Given the description of an element on the screen output the (x, y) to click on. 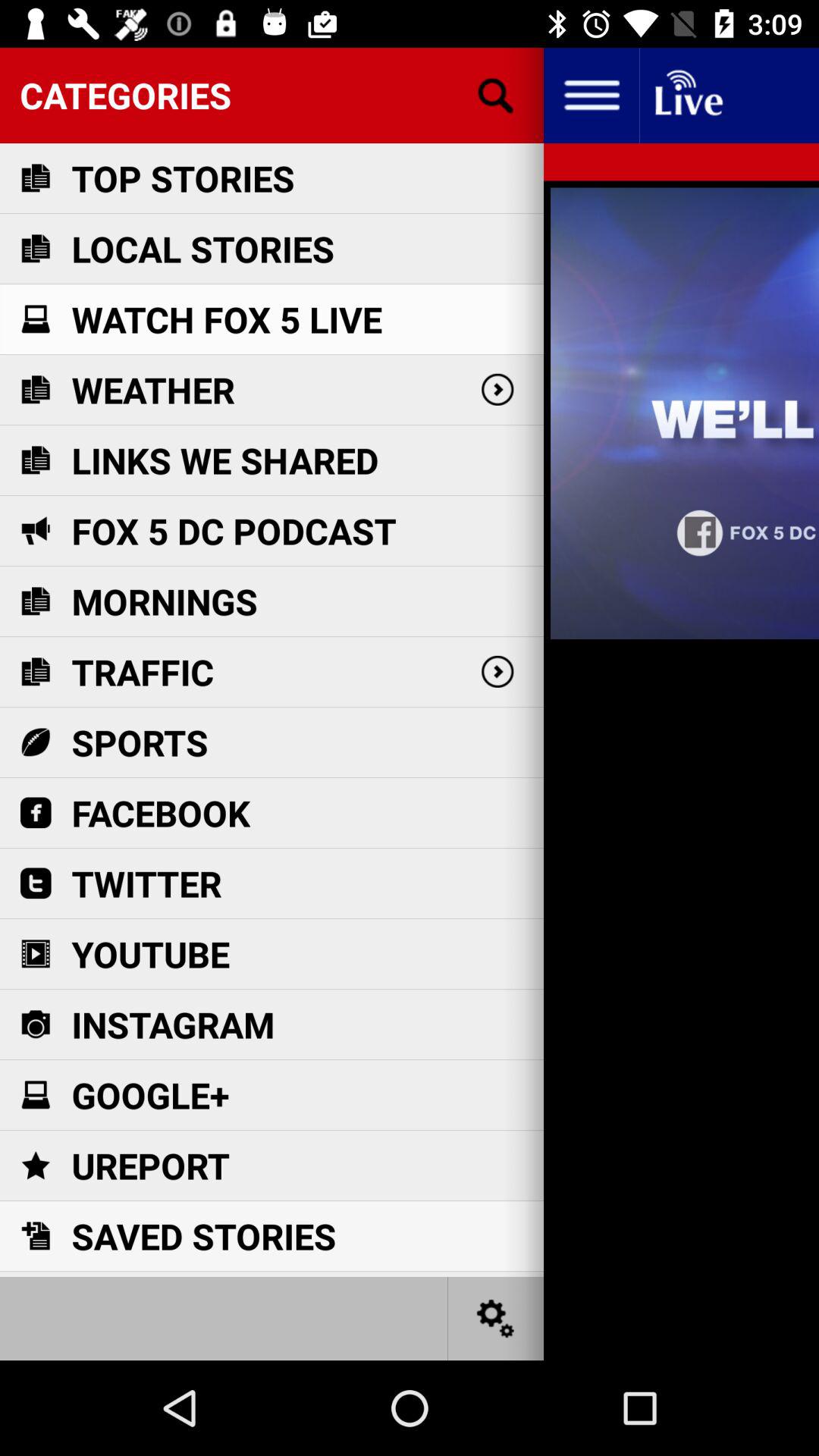
select the item below the categories (182, 178)
